Given the description of an element on the screen output the (x, y) to click on. 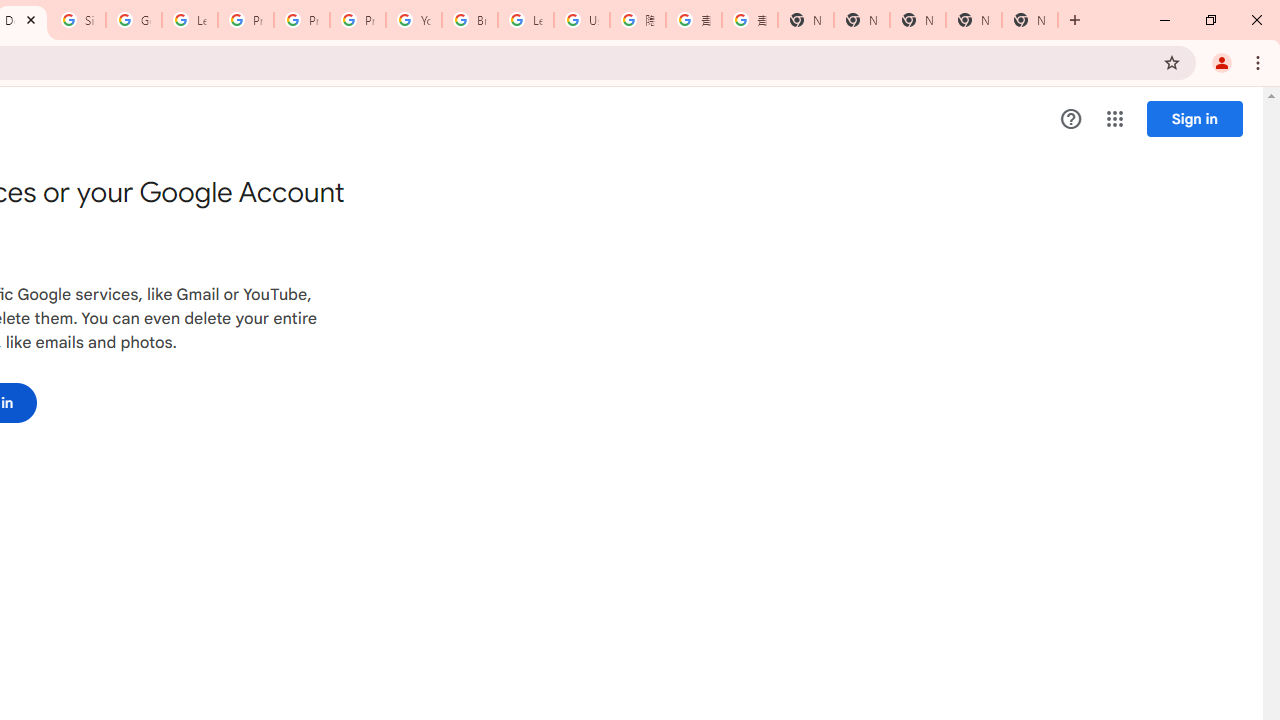
Sign in - Google Accounts (77, 20)
New Tab (806, 20)
Privacy Help Center - Policies Help (301, 20)
Privacy Help Center - Policies Help (245, 20)
Sign in (1194, 118)
New Tab (1030, 20)
Help (1071, 119)
